Given the description of an element on the screen output the (x, y) to click on. 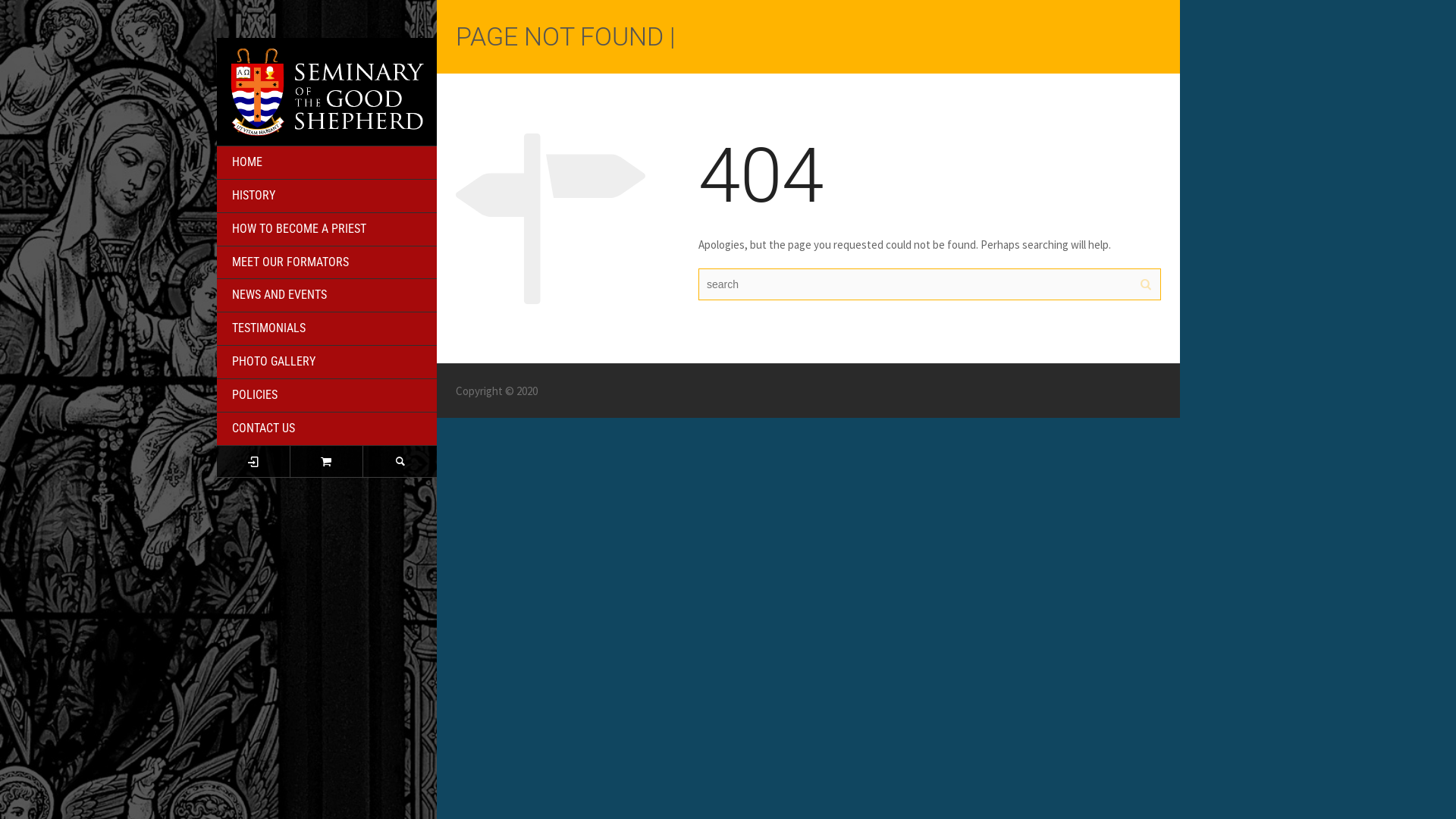
CONTACT US Element type: text (326, 428)
HOW TO BECOME A PRIEST Element type: text (326, 229)
HISTORY Element type: text (326, 196)
MEET OUR FORMATORS Element type: text (326, 262)
POLICIES Element type: text (326, 395)
HOME Element type: text (326, 162)
PHOTO GALLERY Element type: text (326, 362)
Cart Element type: hover (327, 460)
NEWS AND EVENTS Element type: text (326, 295)
Login Element type: hover (253, 460)
TESTIMONIALS Element type: text (326, 328)
Seminary of the Good Shepherd Homebush Sydney Element type: hover (326, 90)
Search Element type: hover (399, 460)
